Given the description of an element on the screen output the (x, y) to click on. 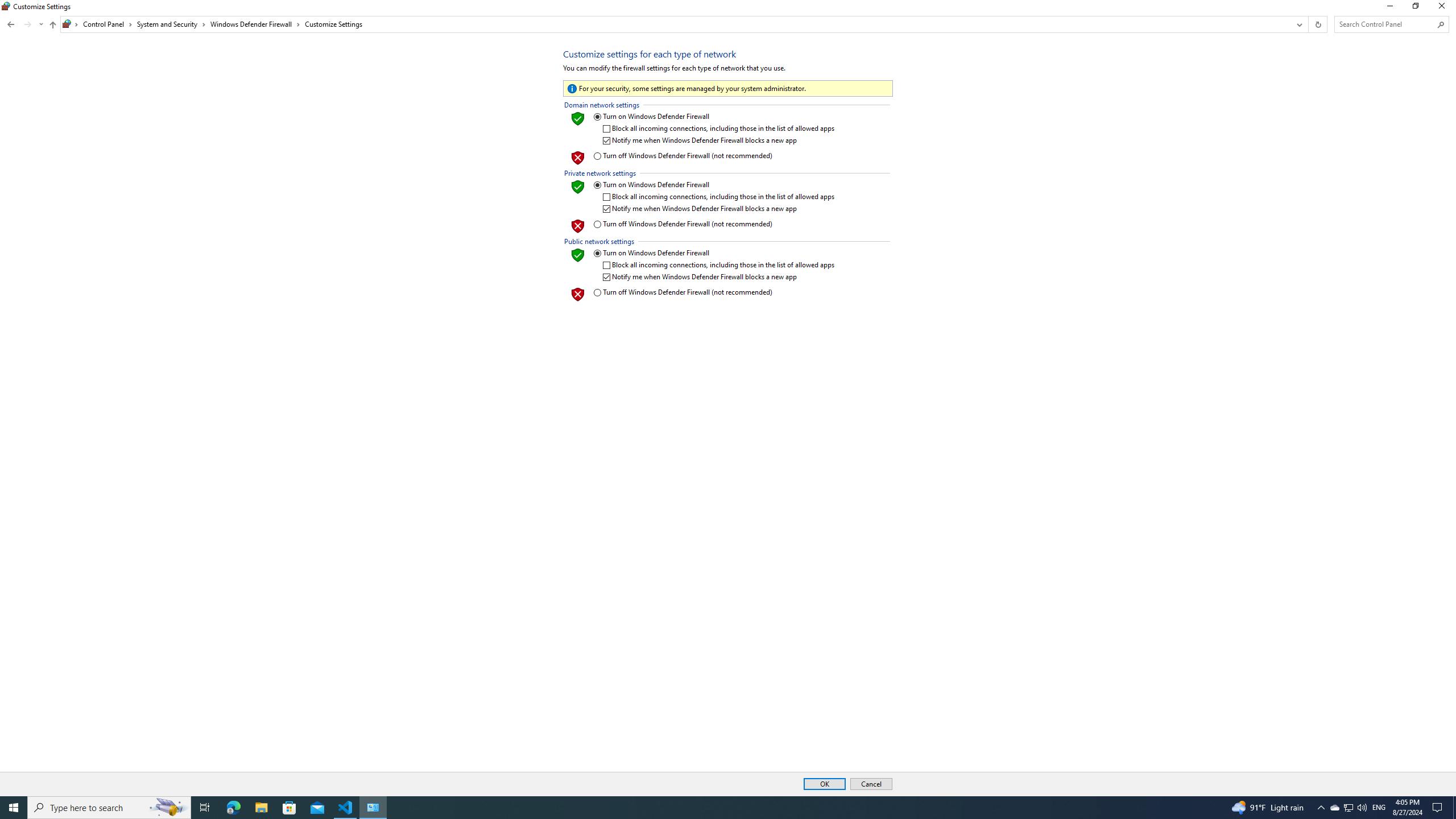
Restore (1415, 8)
Control Panel - 1 running window (373, 807)
Up band toolbar (52, 26)
Windows Defender Firewall (255, 23)
OK (824, 783)
